Given the description of an element on the screen output the (x, y) to click on. 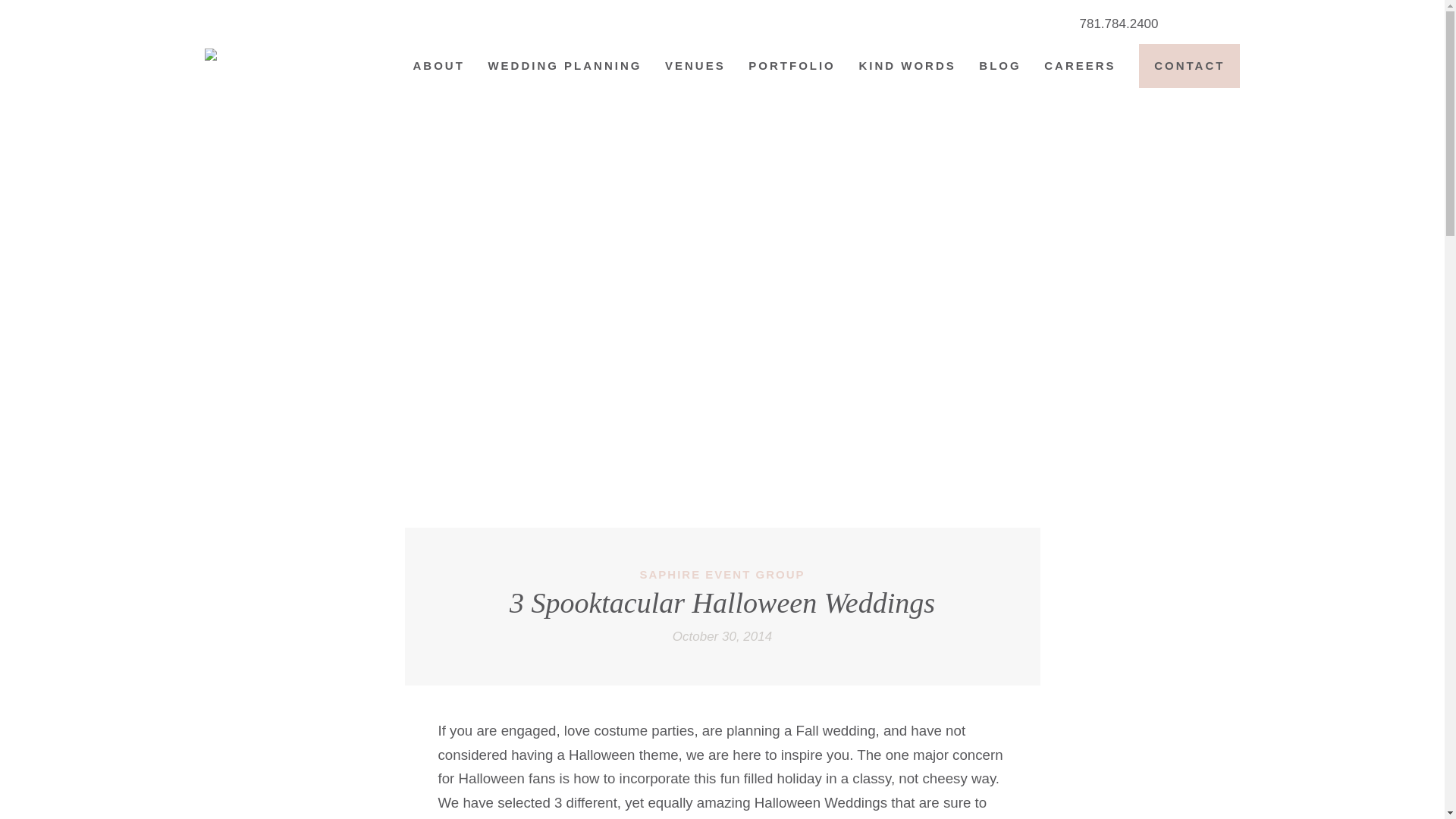
CONTACT (1189, 65)
SAPHIRE EVENT GROUP (721, 574)
BLOG (999, 65)
781.784.2400 (1119, 23)
VENUES (695, 65)
CAREERS (1079, 65)
WEDDING PLANNING (564, 65)
PORTFOLIO (791, 65)
KIND WORDS (907, 65)
ABOUT (438, 65)
